Given the description of an element on the screen output the (x, y) to click on. 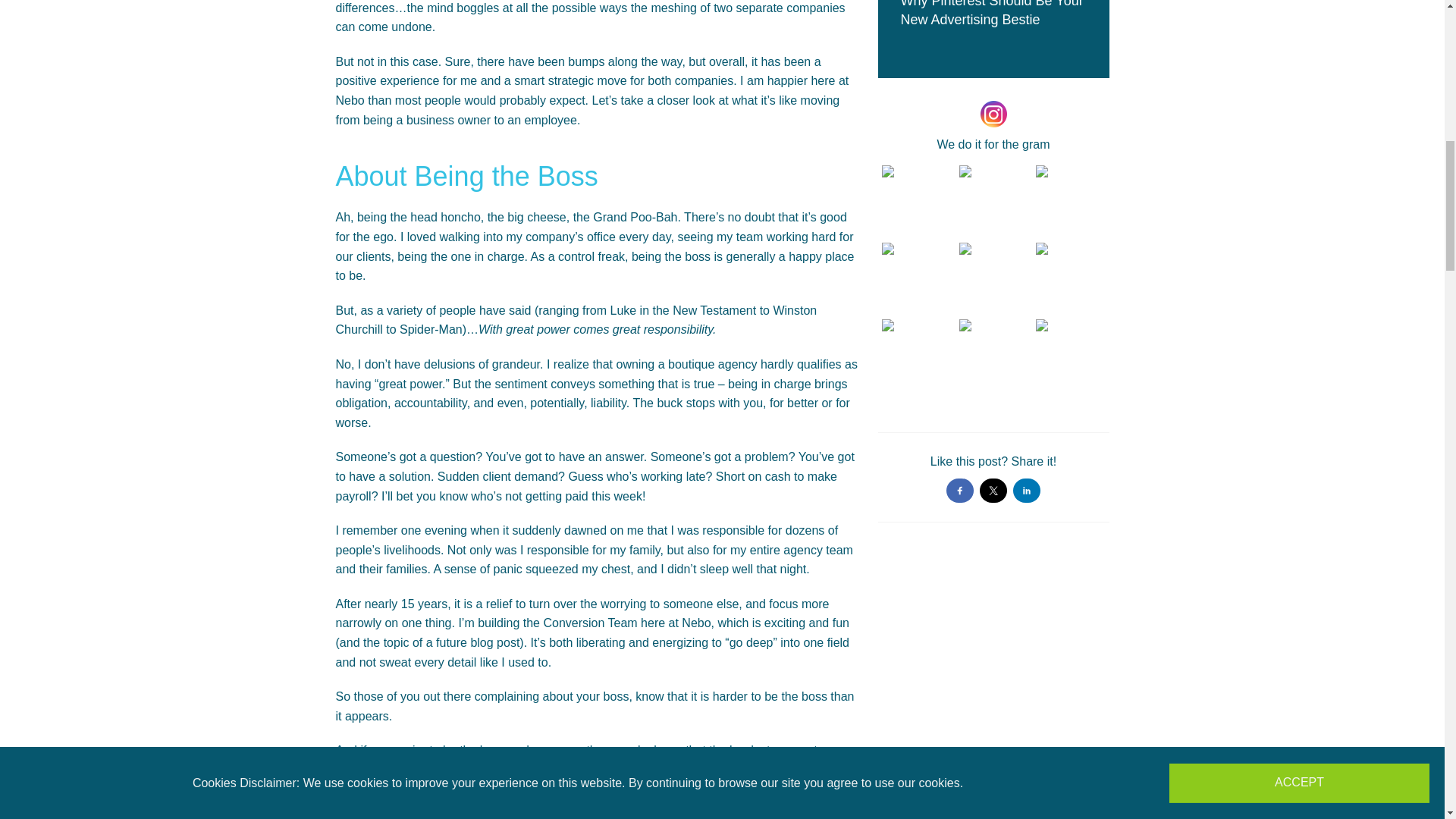
Like this post? Share it! (993, 477)
